Given the description of an element on the screen output the (x, y) to click on. 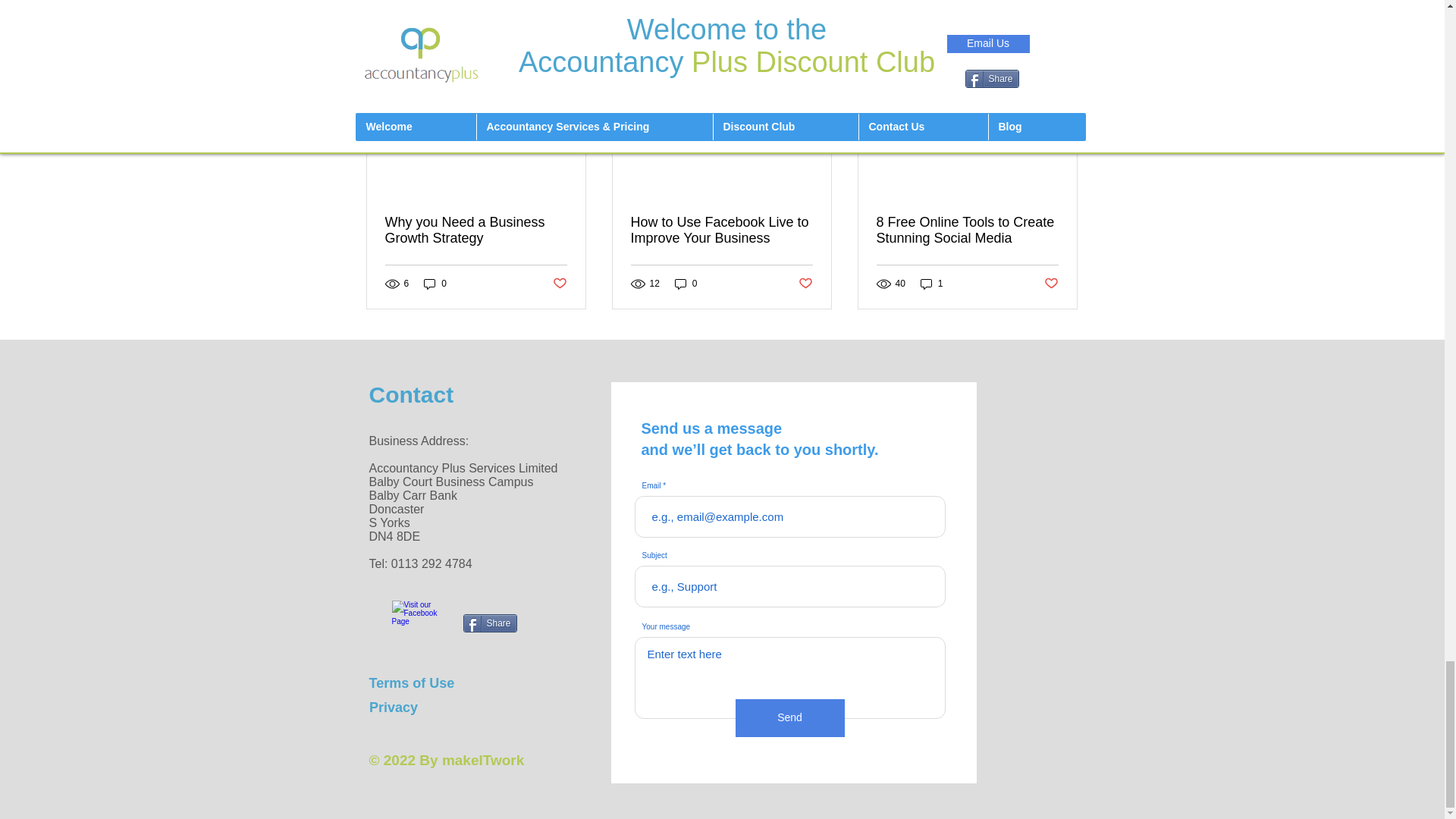
Share (489, 623)
Click to visit our Facebook Page (414, 623)
